Given the description of an element on the screen output the (x, y) to click on. 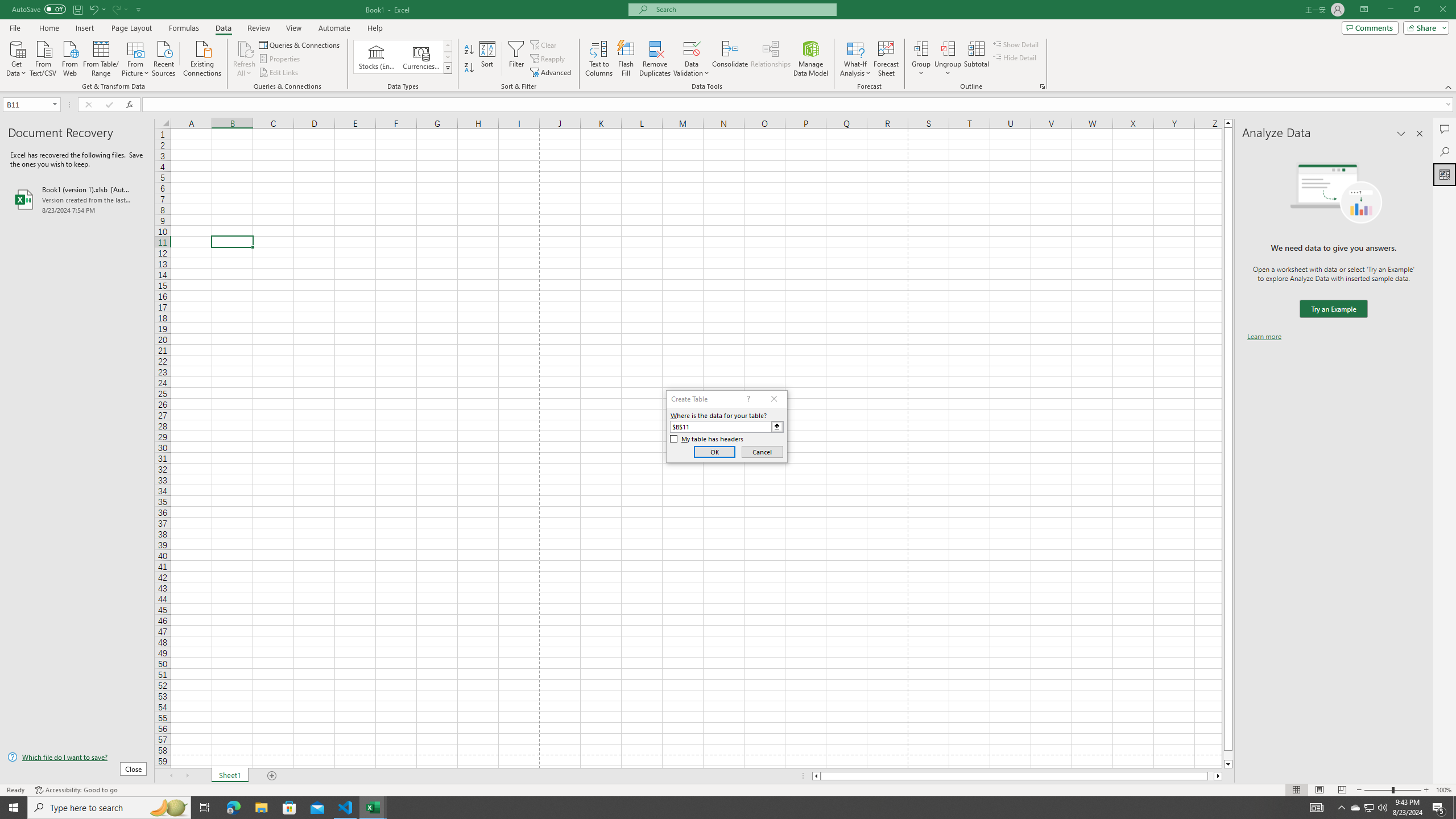
Flash Fill (625, 58)
Reapply (548, 58)
Consolidate... (729, 58)
Forecast Sheet (885, 58)
